Given the description of an element on the screen output the (x, y) to click on. 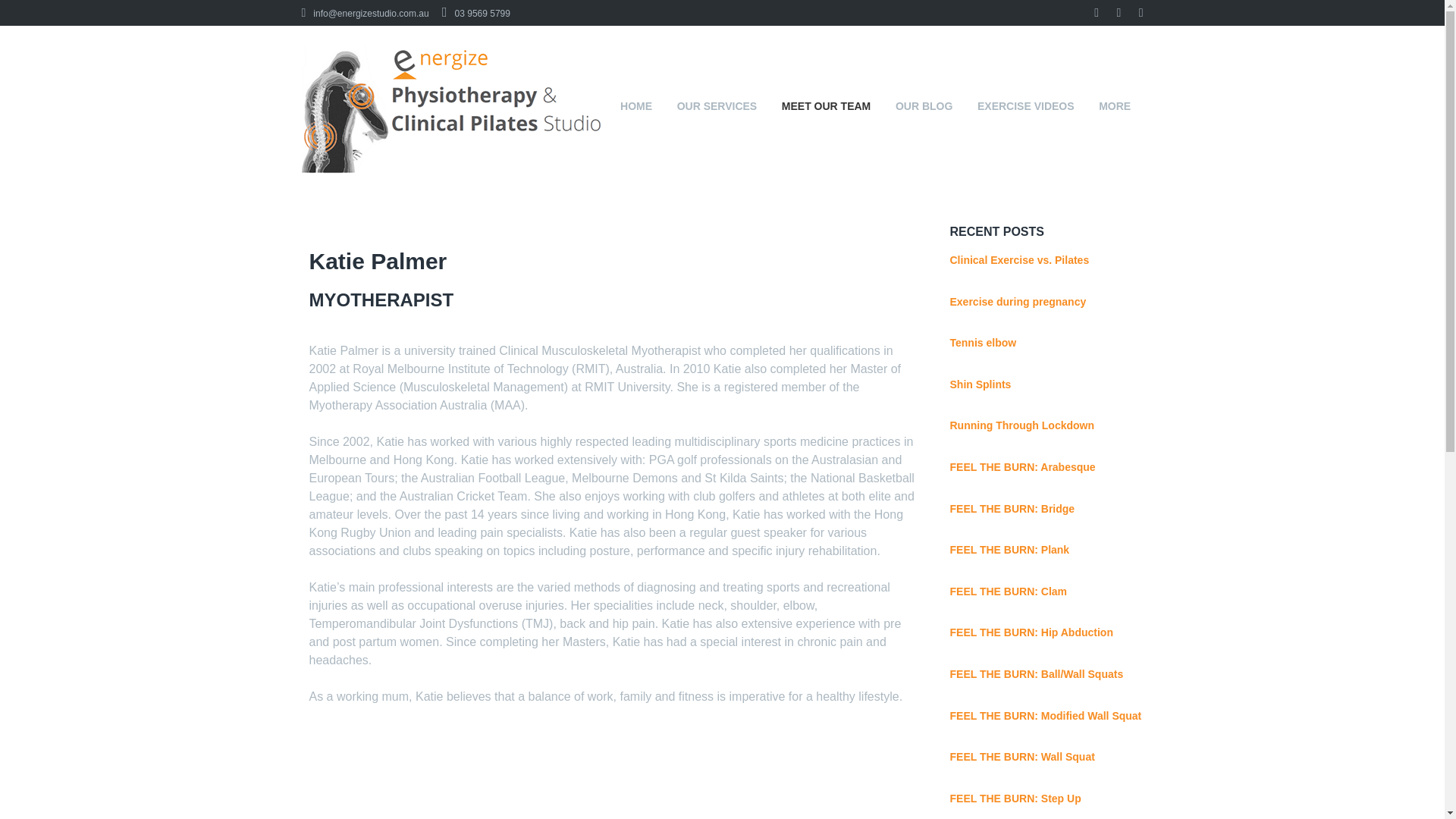
Exercise during pregnancy (1017, 301)
Shin Splints (979, 384)
EXERCISE VIDEOS (1025, 106)
Clinical Exercise vs. Pilates (1019, 259)
OUR BLOG (924, 106)
OUR SERVICES (715, 106)
HOME (636, 106)
MORE (1114, 106)
03 9569 5799 (476, 13)
MEET OUR TEAM (825, 106)
Running Through Lockdown (1021, 425)
Tennis elbow (982, 342)
FEEL THE BURN: Arabesque (1021, 467)
